Given the description of an element on the screen output the (x, y) to click on. 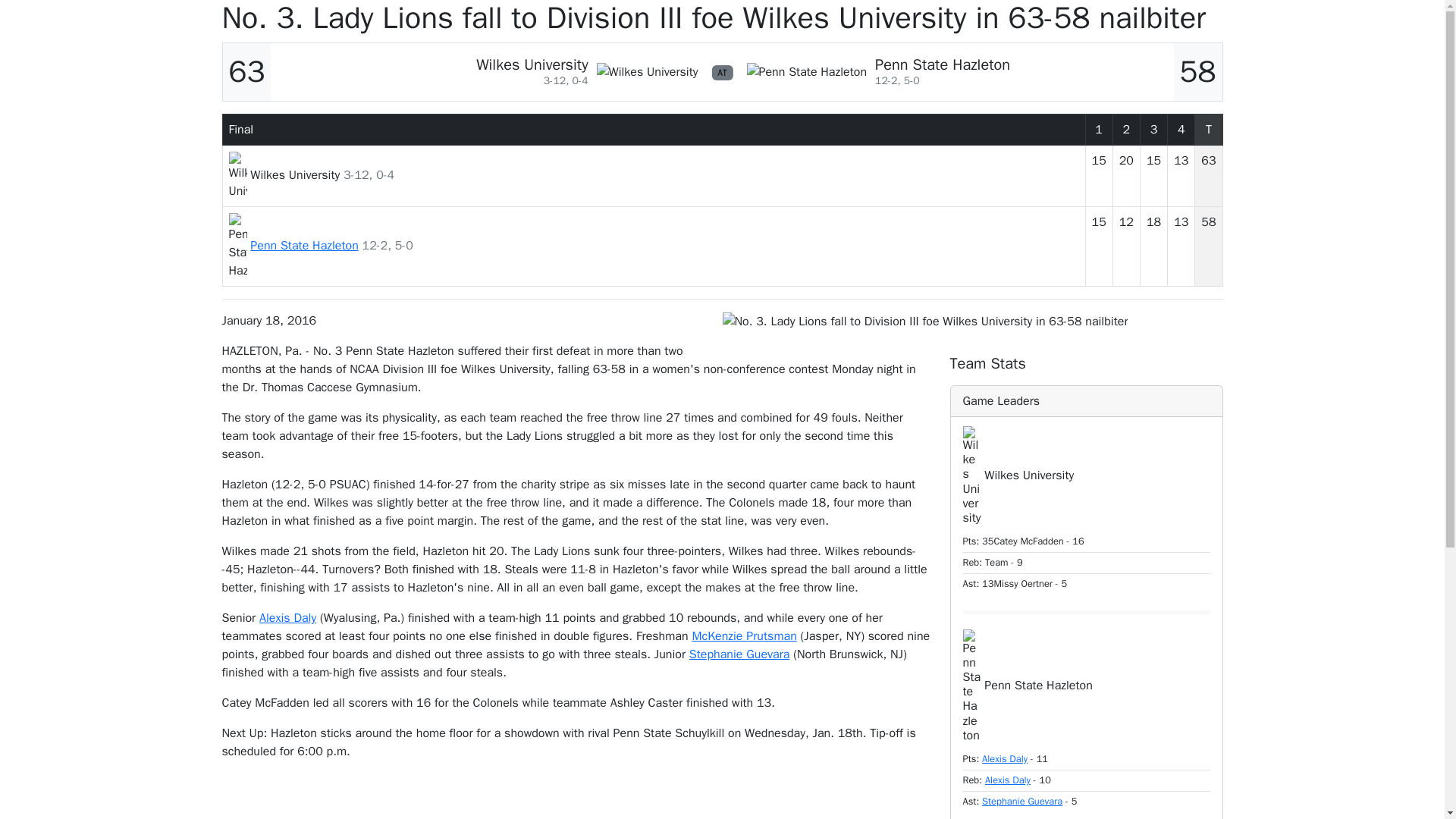
Stephanie Guevara (739, 654)
Penn State Hazleton (304, 245)
Alexis Daly (287, 617)
McKenzie Prutsman (743, 635)
Alexis Daly (1007, 779)
Stephanie Guevara (1021, 801)
Alexis Daly (1004, 758)
